Given the description of an element on the screen output the (x, y) to click on. 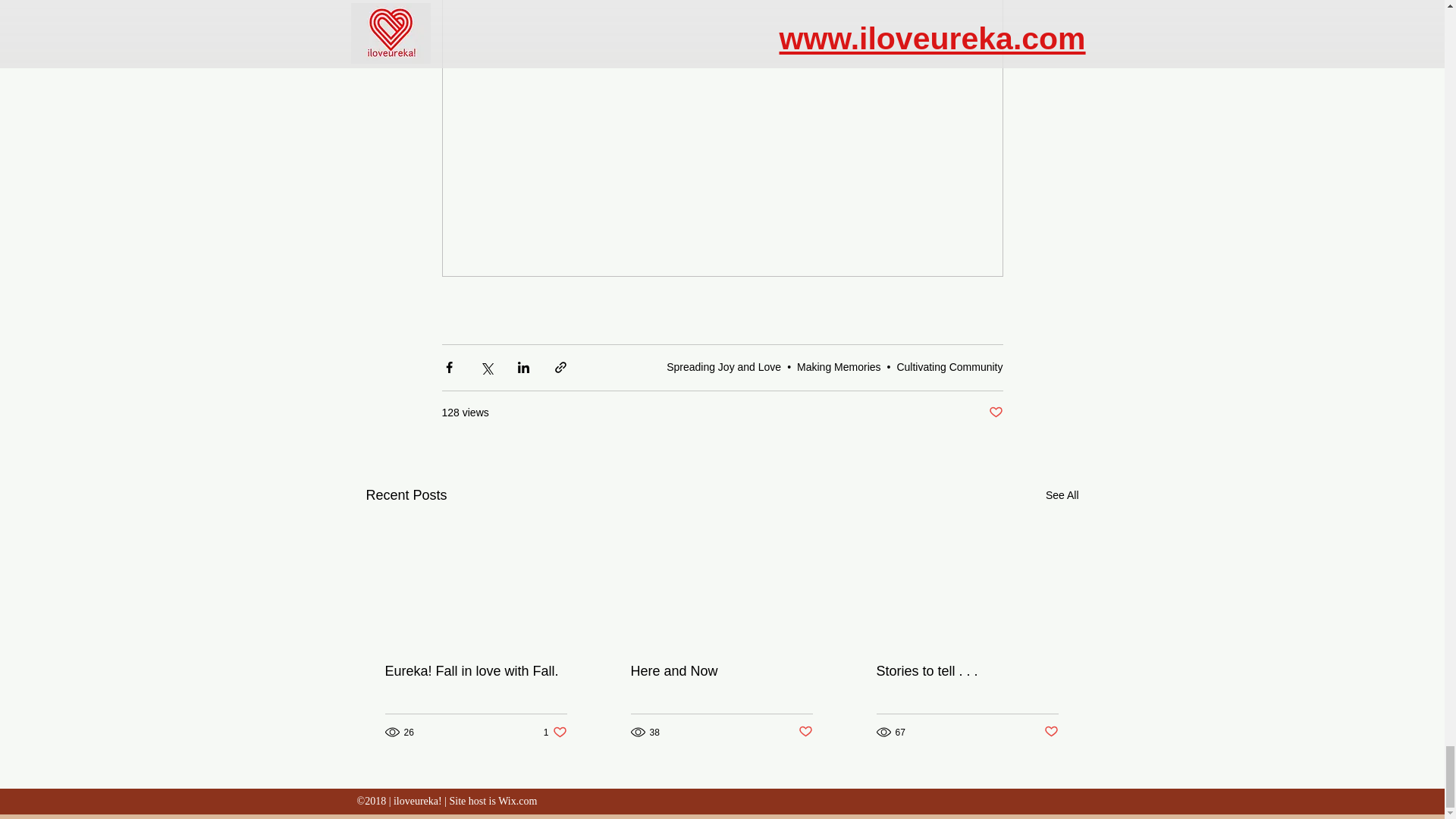
Post not marked as liked (804, 731)
Post not marked as liked (1050, 731)
Cultivating Community (949, 367)
Post not marked as liked (555, 731)
Stories to tell . . . (995, 412)
Here and Now (967, 671)
Spreading Joy and Love (721, 671)
Making Memories (723, 367)
Eureka! Fall in love with Fall. (838, 367)
